Given the description of an element on the screen output the (x, y) to click on. 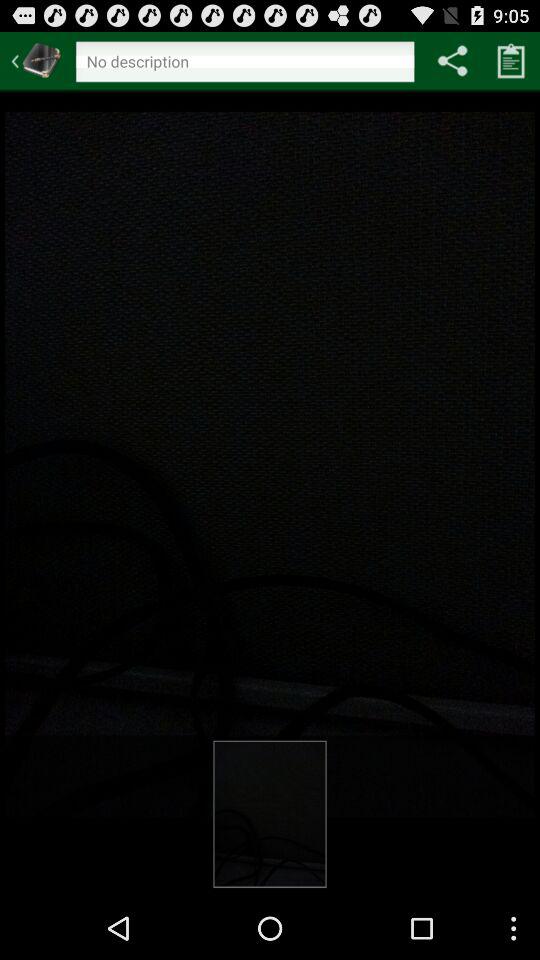
sharing option (452, 60)
